Given the description of an element on the screen output the (x, y) to click on. 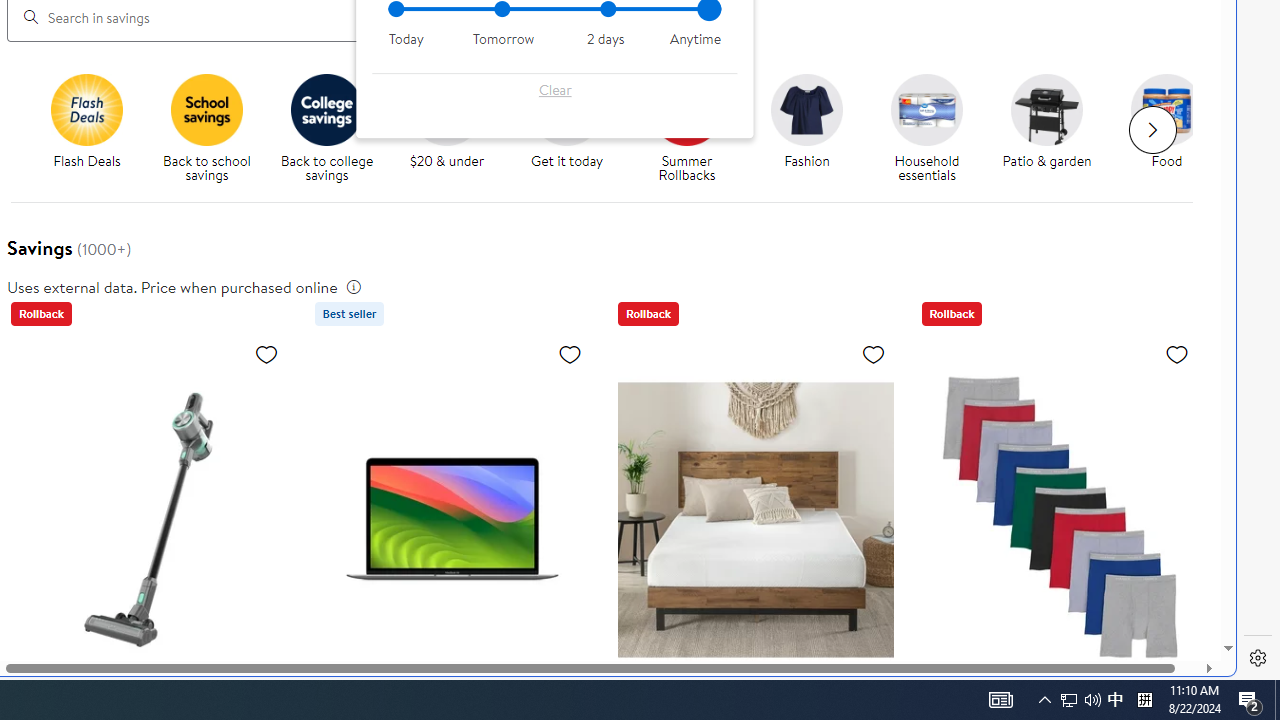
Back to School savings (207, 109)
Summer Rollbacks (694, 128)
$20 and under (446, 109)
Hanes Men's Super Value Pack Assorted Boxer Briefs, 10 Pack (1058, 519)
Get it today (566, 109)
Zinus Spa Sensations Serenity 8" Memory Foam Mattress, Full (755, 519)
Patio & garden (1046, 109)
Patio & garden Patio & garden (1046, 122)
Back to School savings Back to school savings (206, 128)
Food (1174, 128)
Summer Rollbacks (687, 109)
Back to college savings (335, 128)
